Given the description of an element on the screen output the (x, y) to click on. 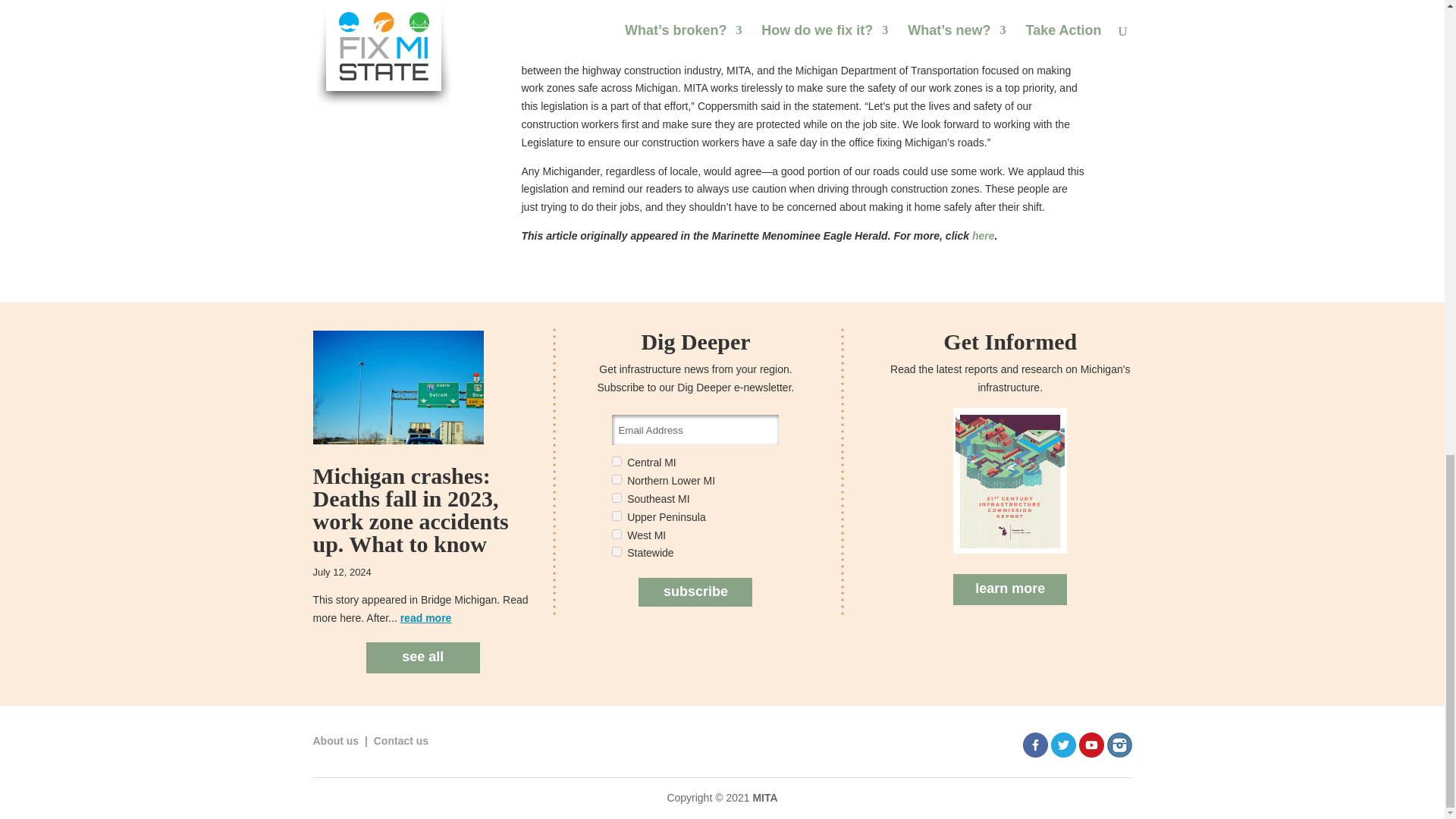
Northern Lower MI (616, 479)
Southeast MI (616, 497)
Subscribe (695, 592)
West MI (616, 533)
Statewide (616, 551)
here (983, 235)
Central MI (616, 461)
Upper Peninsula (616, 515)
